Given the description of an element on the screen output the (x, y) to click on. 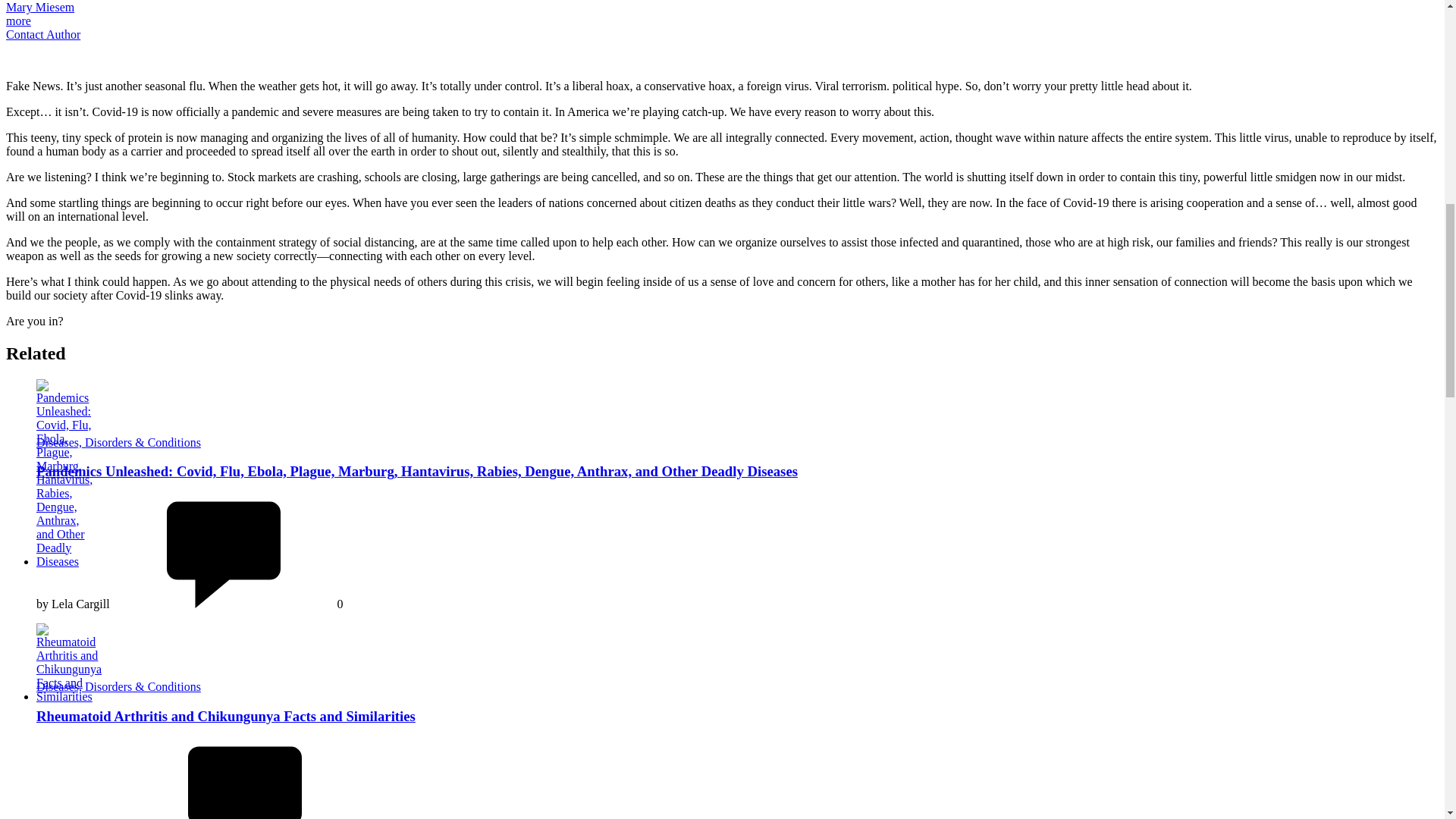
Rheumatoid Arthritis and Chikungunya Facts and Similarities (225, 715)
Contact Author (42, 33)
